Given the description of an element on the screen output the (x, y) to click on. 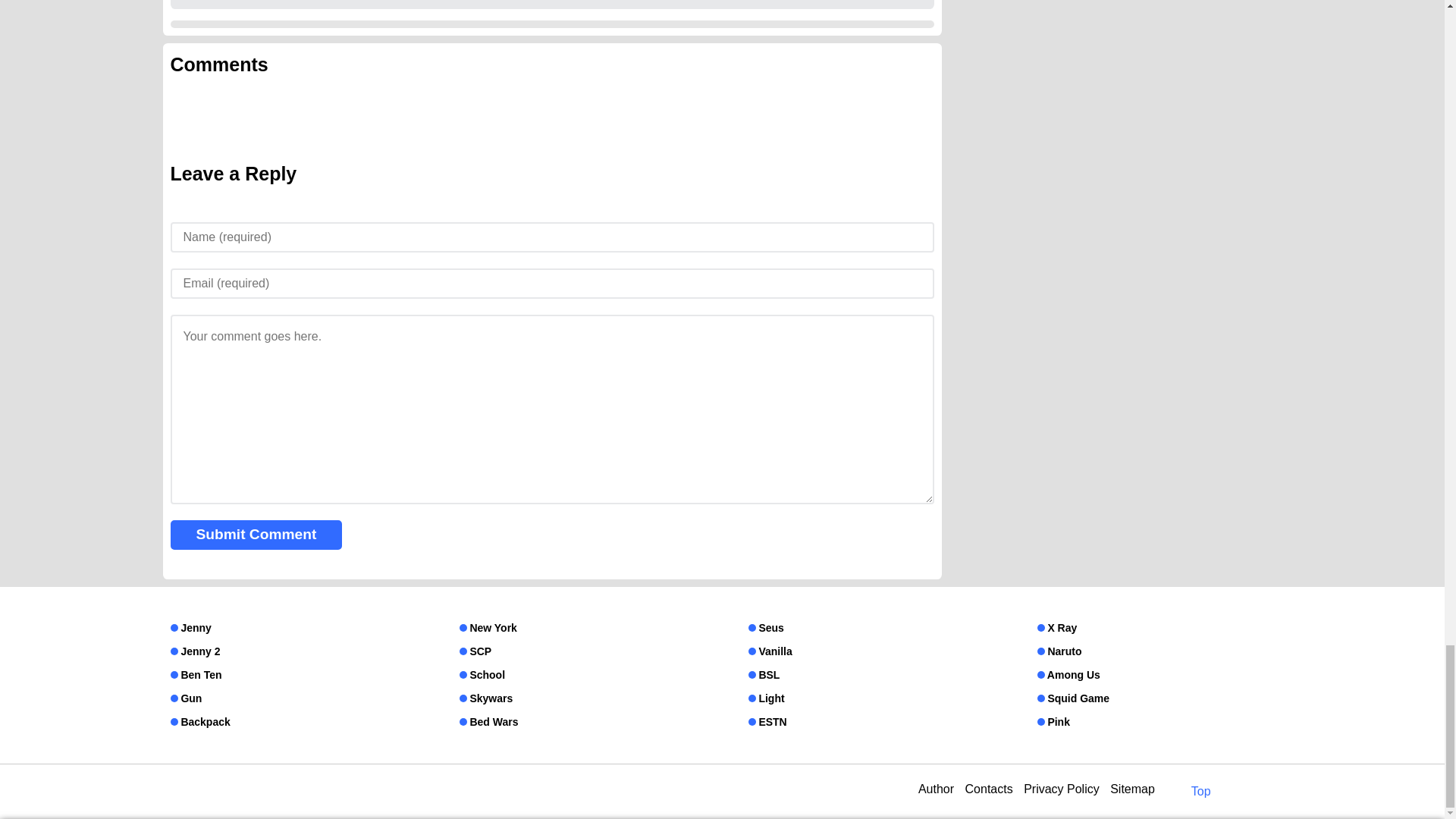
Submit Comment (256, 535)
Submit Comment (256, 535)
Minecraft PE 1.19.83 (220, 0)
